Given the description of an element on the screen output the (x, y) to click on. 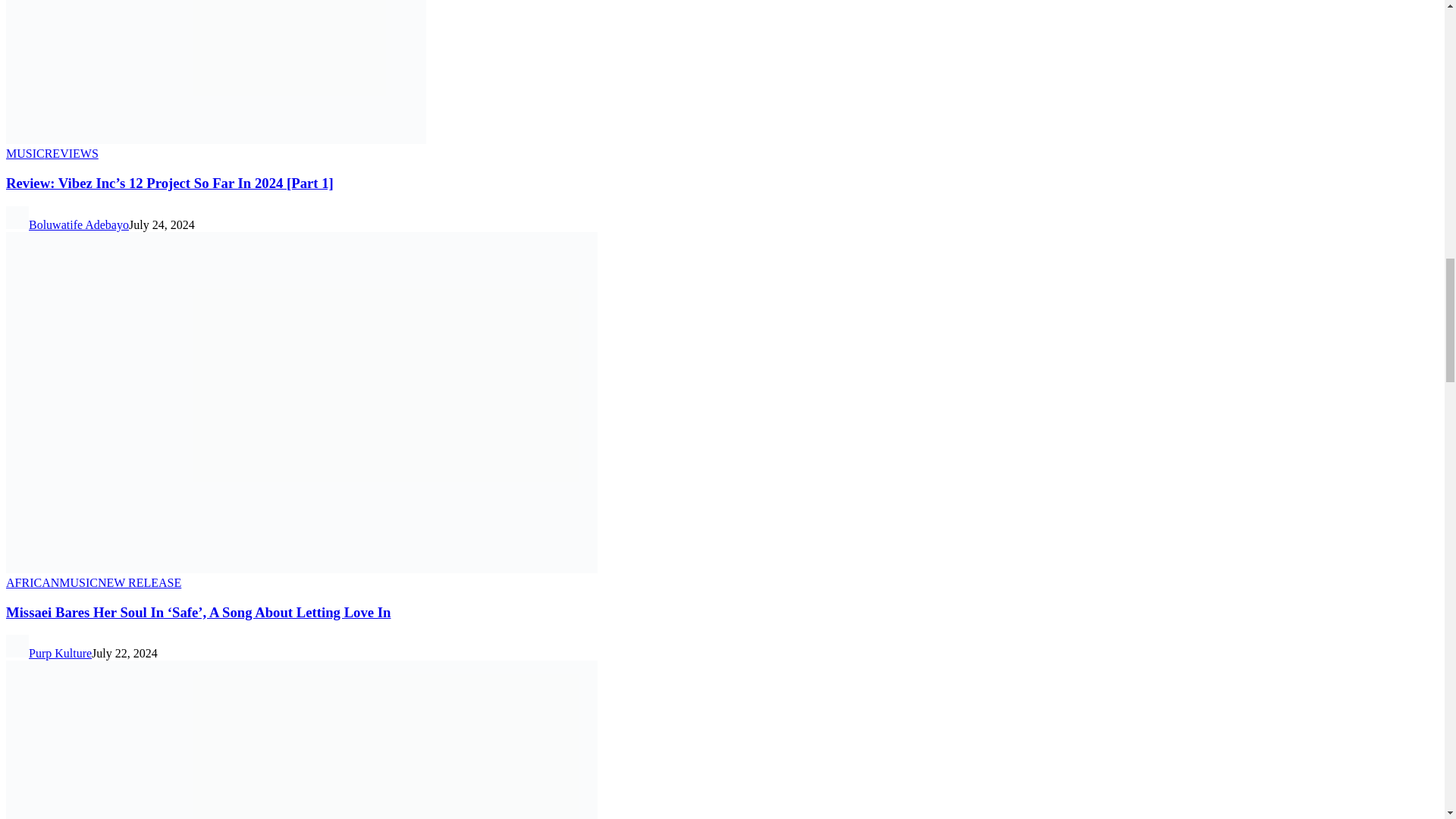
Posts by Purp Kulture (60, 653)
MUSIC (25, 153)
Posts by Boluwatife Adebayo (79, 224)
REVIEWS (72, 153)
